Given the description of an element on the screen output the (x, y) to click on. 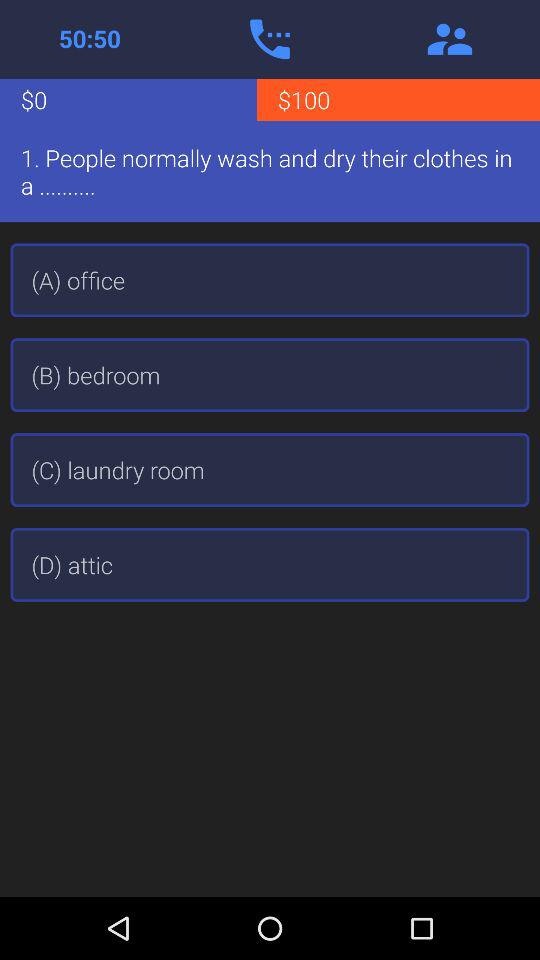
choose the (d) attic item (269, 564)
